Given the description of an element on the screen output the (x, y) to click on. 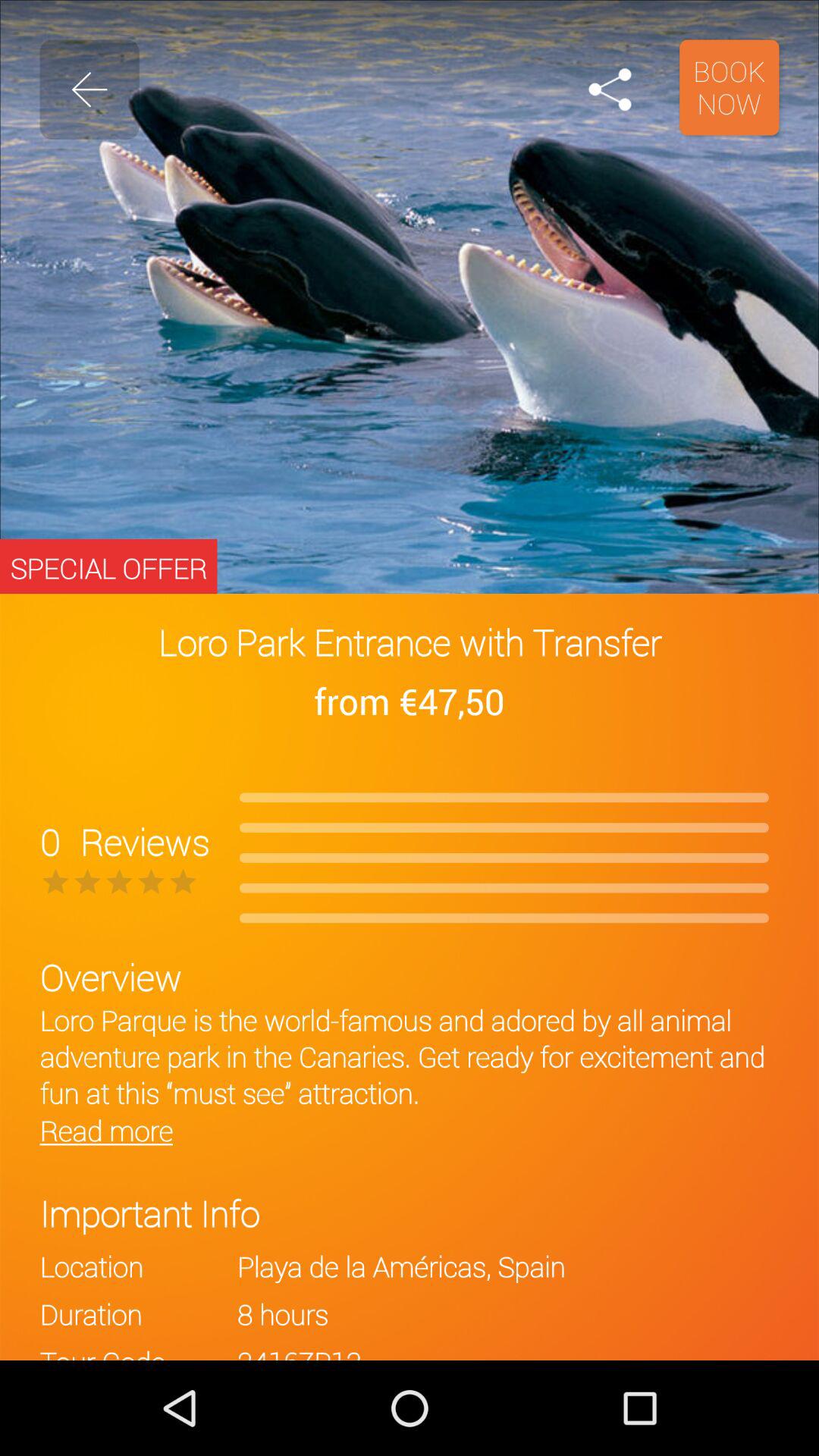
open the icon above loro park entrance (609, 89)
